Given the description of an element on the screen output the (x, y) to click on. 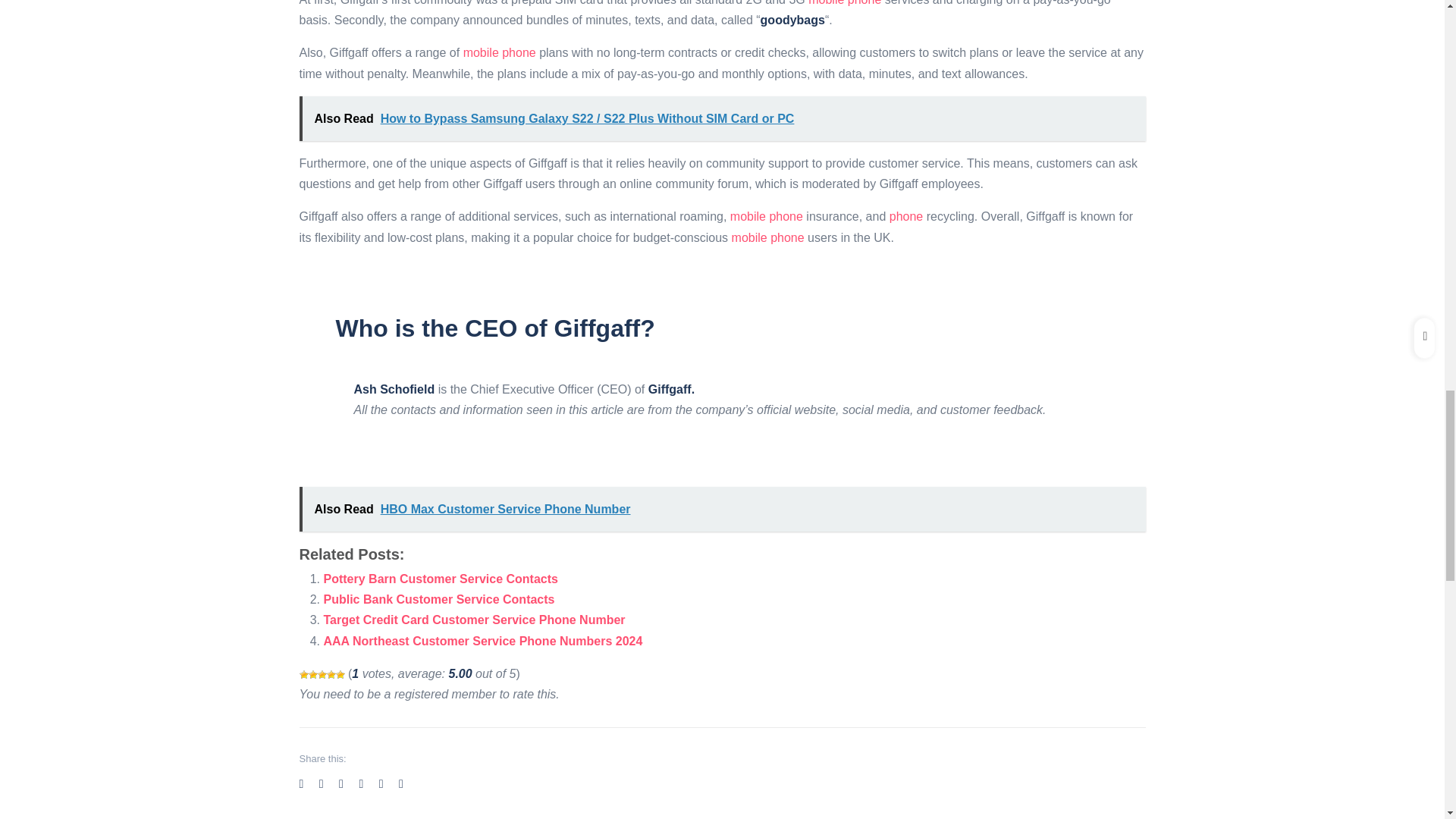
1 vote, average: 5.00 out of 5 (338, 674)
Target Credit Card Customer Service Phone Number (473, 619)
1 vote, average: 5.00 out of 5 (312, 674)
1 vote, average: 5.00 out of 5 (302, 674)
AAA Northeast Customer Service Phone Numbers 2024 (482, 640)
Pottery Barn Customer Service Contacts (440, 578)
1 vote, average: 5.00 out of 5 (330, 674)
1 vote, average: 5.00 out of 5 (321, 674)
Public Bank Customer Service Contacts (438, 599)
